Given the description of an element on the screen output the (x, y) to click on. 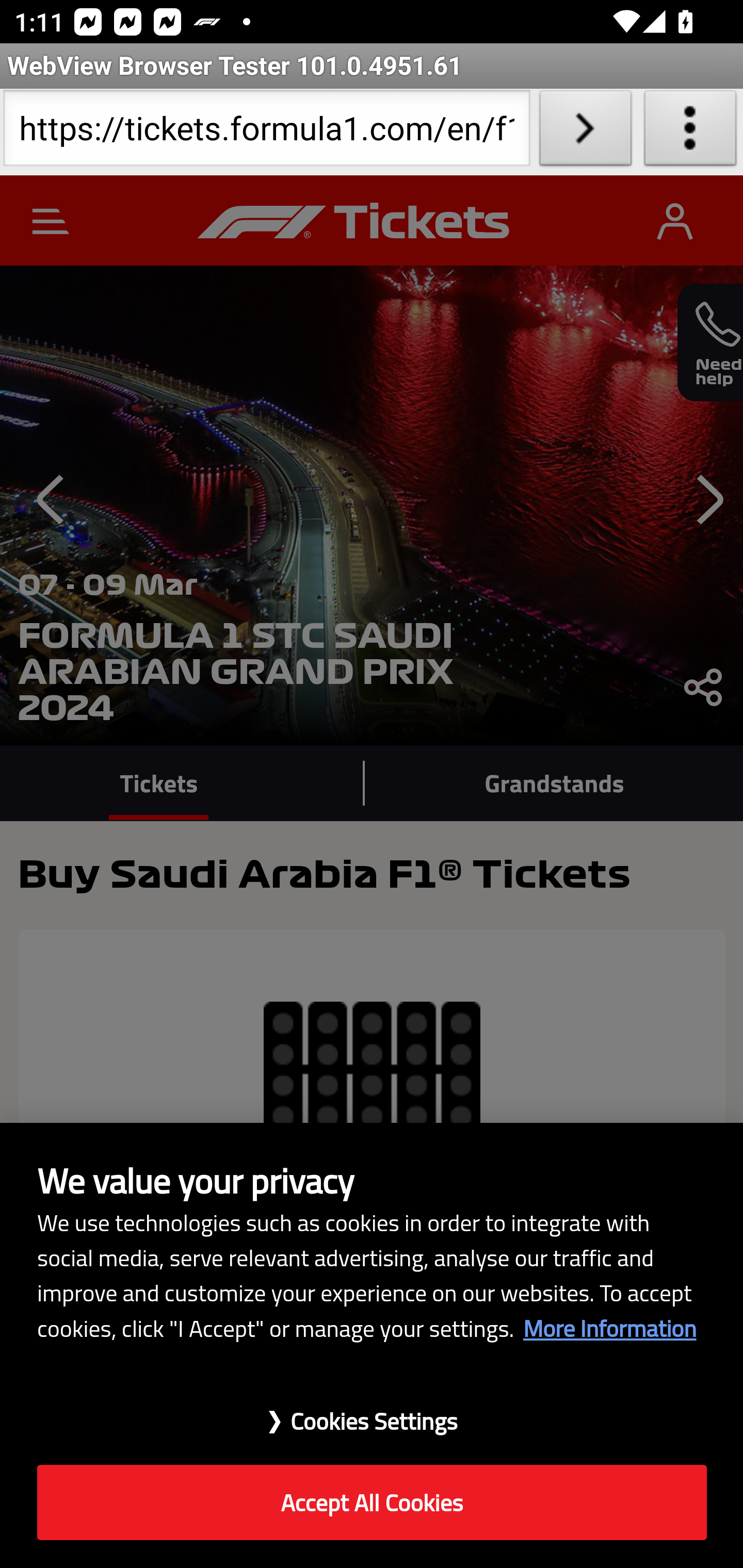
Load URL (585, 132)
About WebView (690, 132)
❯Cookies Settings (372, 1411)
Accept All Cookies (372, 1502)
